Given the description of an element on the screen output the (x, y) to click on. 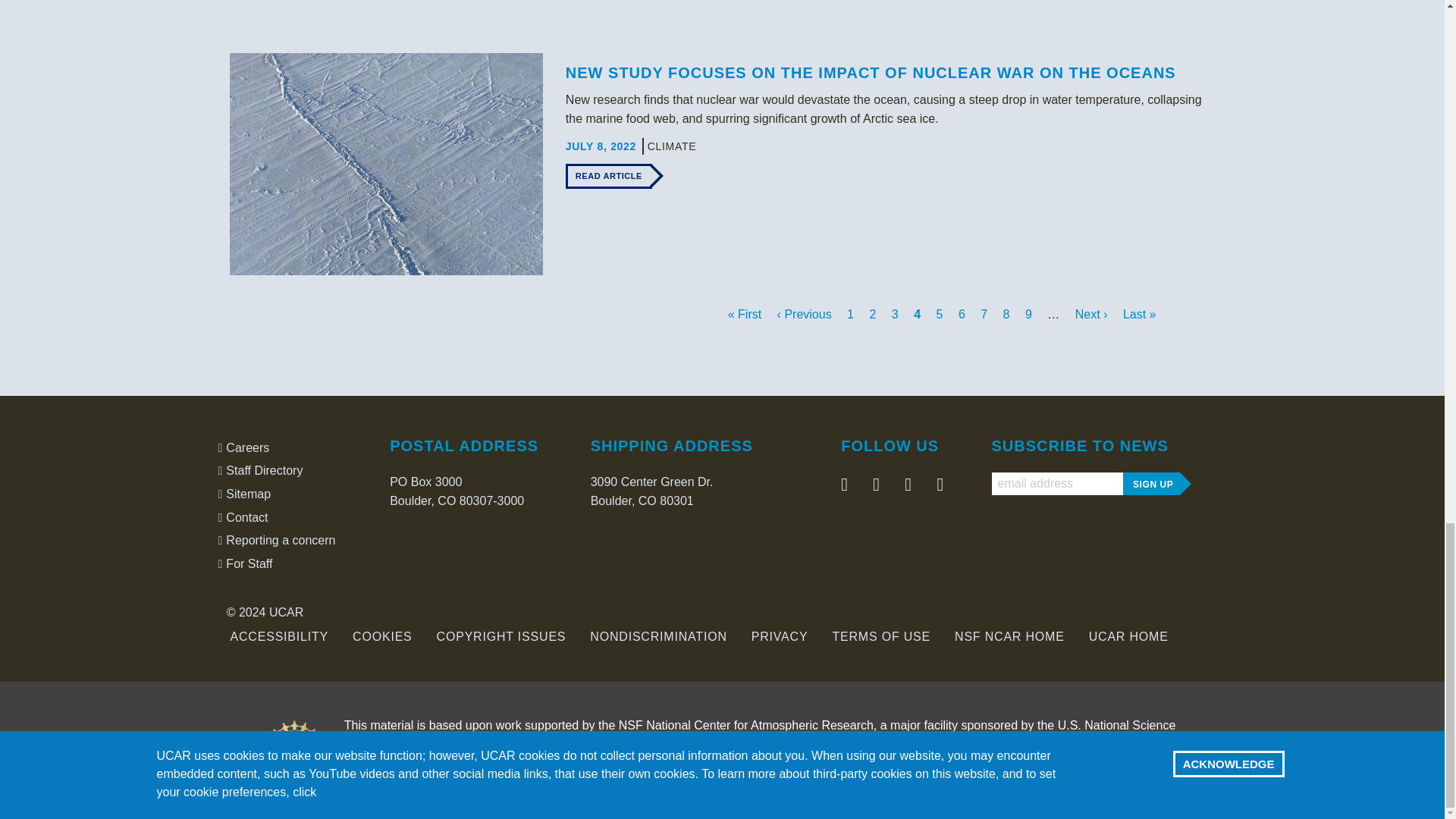
Go to previous page (805, 314)
Sign Up (1150, 483)
NEW STUDY FOCUSES ON THE IMPACT OF NUCLEAR WAR ON THE OCEANS (871, 72)
Go to next page (1092, 314)
READ ARTICLE (609, 176)
Go to last page (1139, 314)
Go to first page (746, 314)
